Given the description of an element on the screen output the (x, y) to click on. 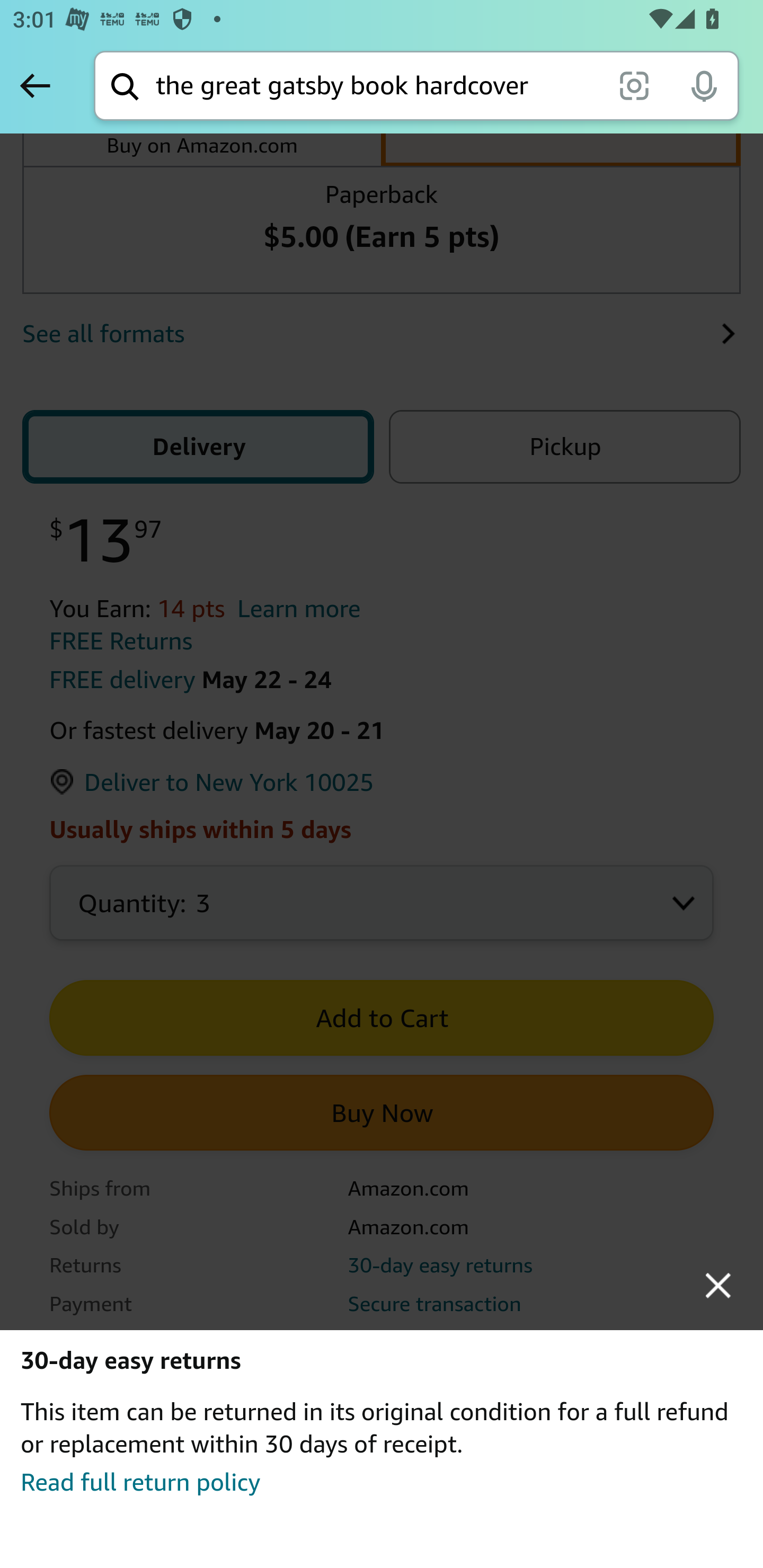
Back (35, 85)
scan it (633, 85)
close (717, 1285)
Read full return policy (140, 1481)
